Given the description of an element on the screen output the (x, y) to click on. 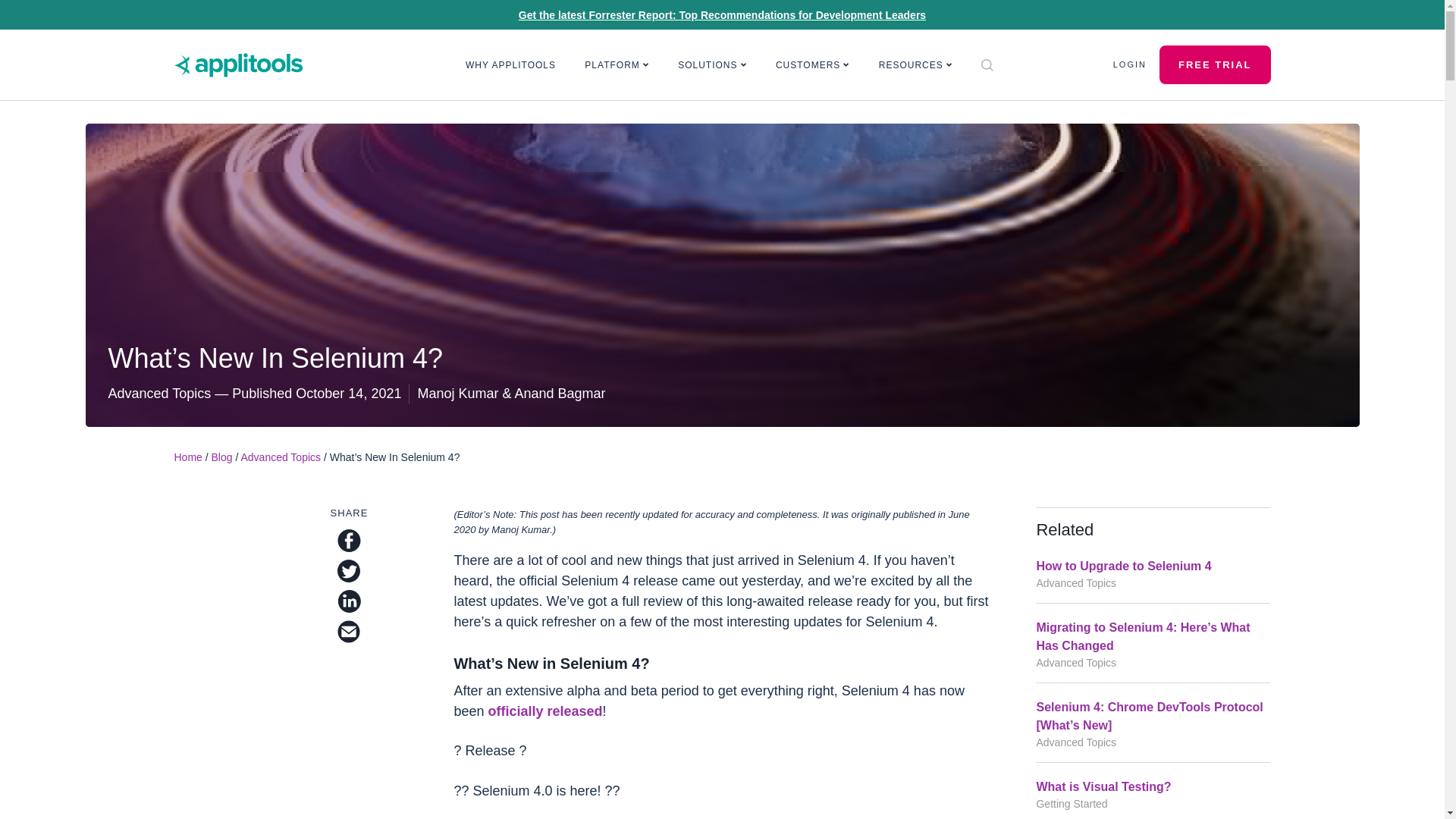
SOLUTIONS (712, 65)
WHY APPLITOOLS (510, 65)
Applitools (238, 64)
PLATFORM (616, 65)
